Given the description of an element on the screen output the (x, y) to click on. 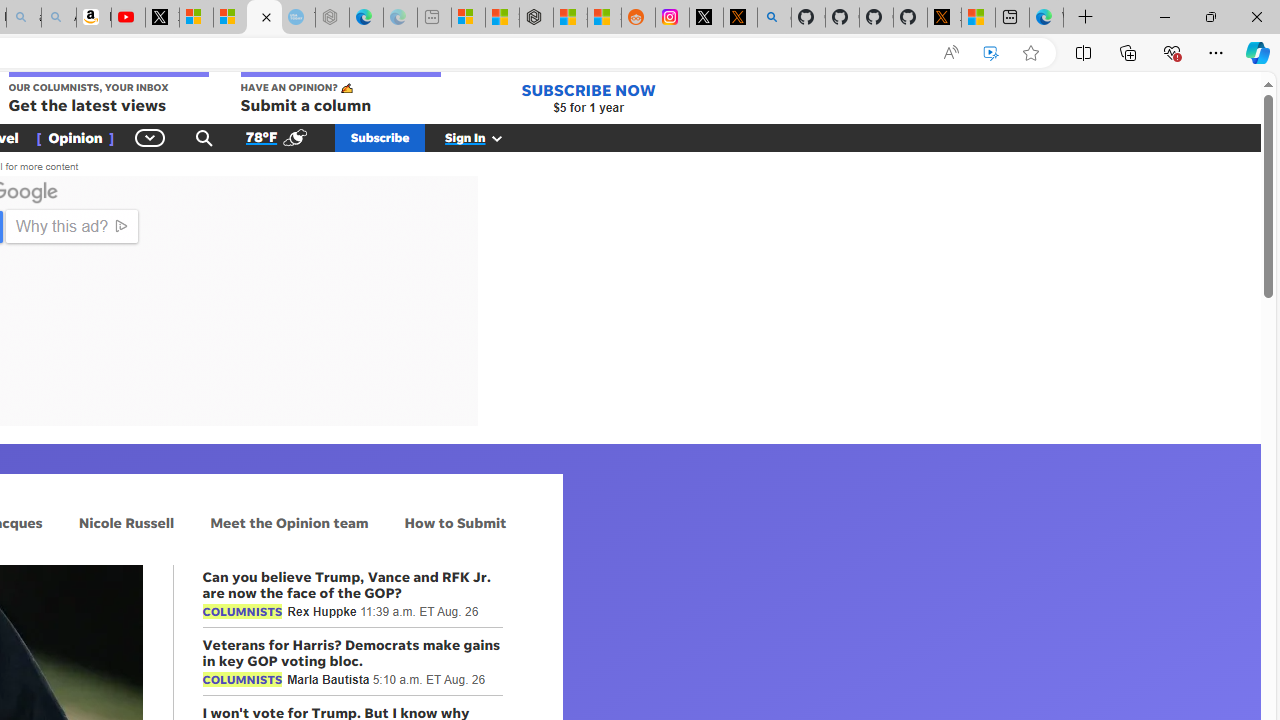
Class: ns-dqusr-e-26 flip-on-rtl (438, 386)
Meet the Opinion team (289, 521)
Enhance video (991, 53)
Amazon Echo Dot PNG - Search Images - Sleeping (58, 17)
OUR COLUMNISTS, YOUR INBOX Get the latest views (107, 94)
Subscribe (380, 137)
Welcome to Microsoft Edge (1046, 17)
How to Submit (455, 521)
